Given the description of an element on the screen output the (x, y) to click on. 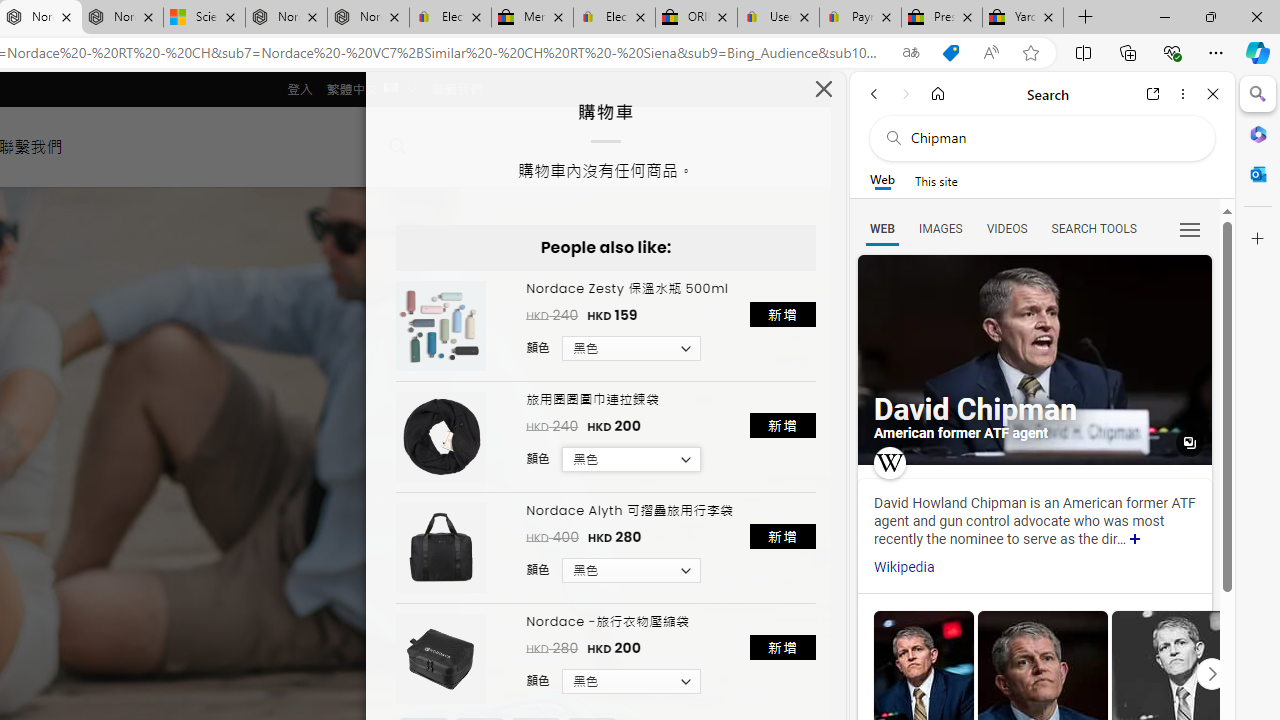
 0  (458, 146)
